Given the description of an element on the screen output the (x, y) to click on. 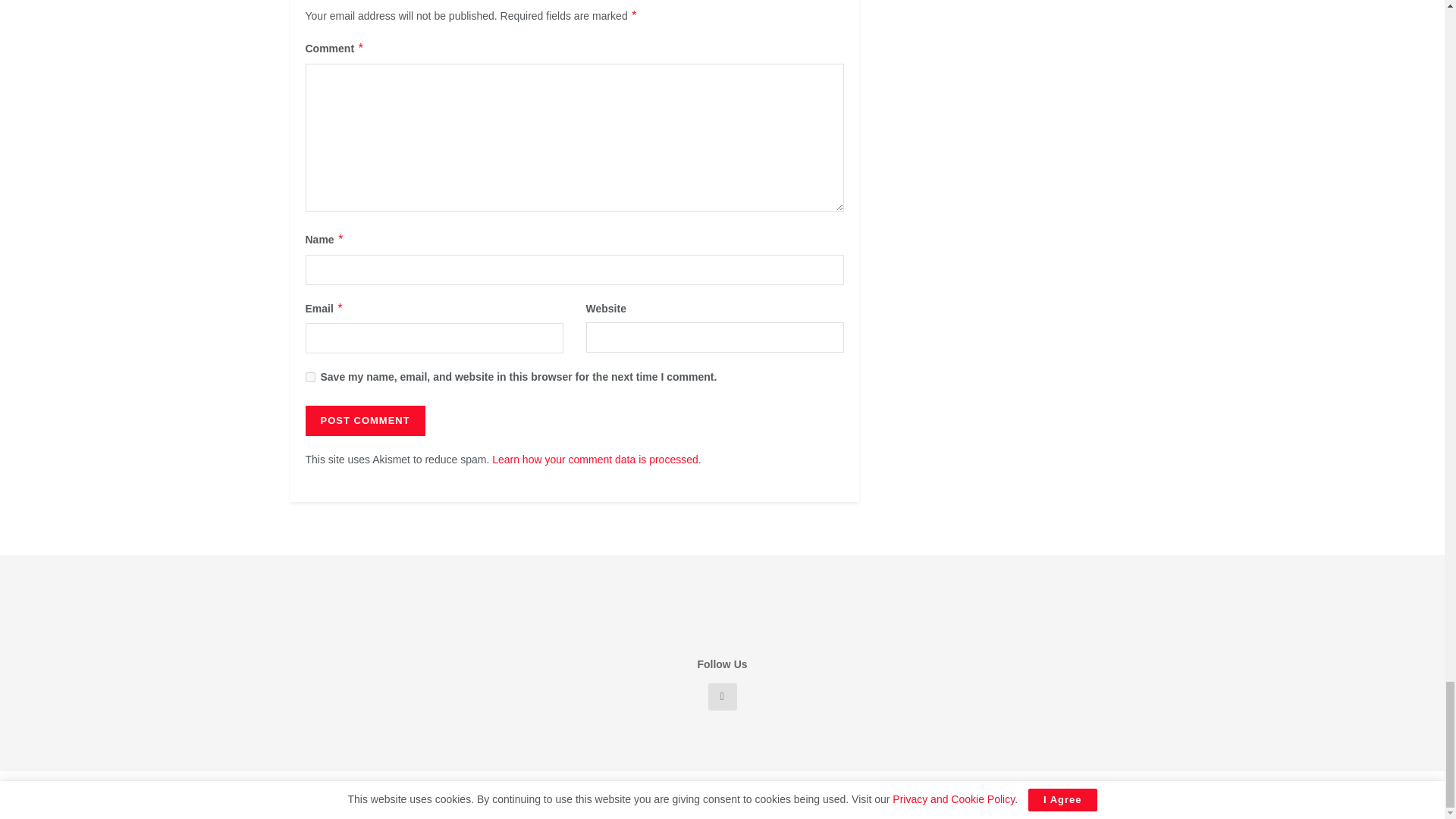
Post Comment (364, 420)
Website Design Services (520, 794)
yes (309, 377)
